Given the description of an element on the screen output the (x, y) to click on. 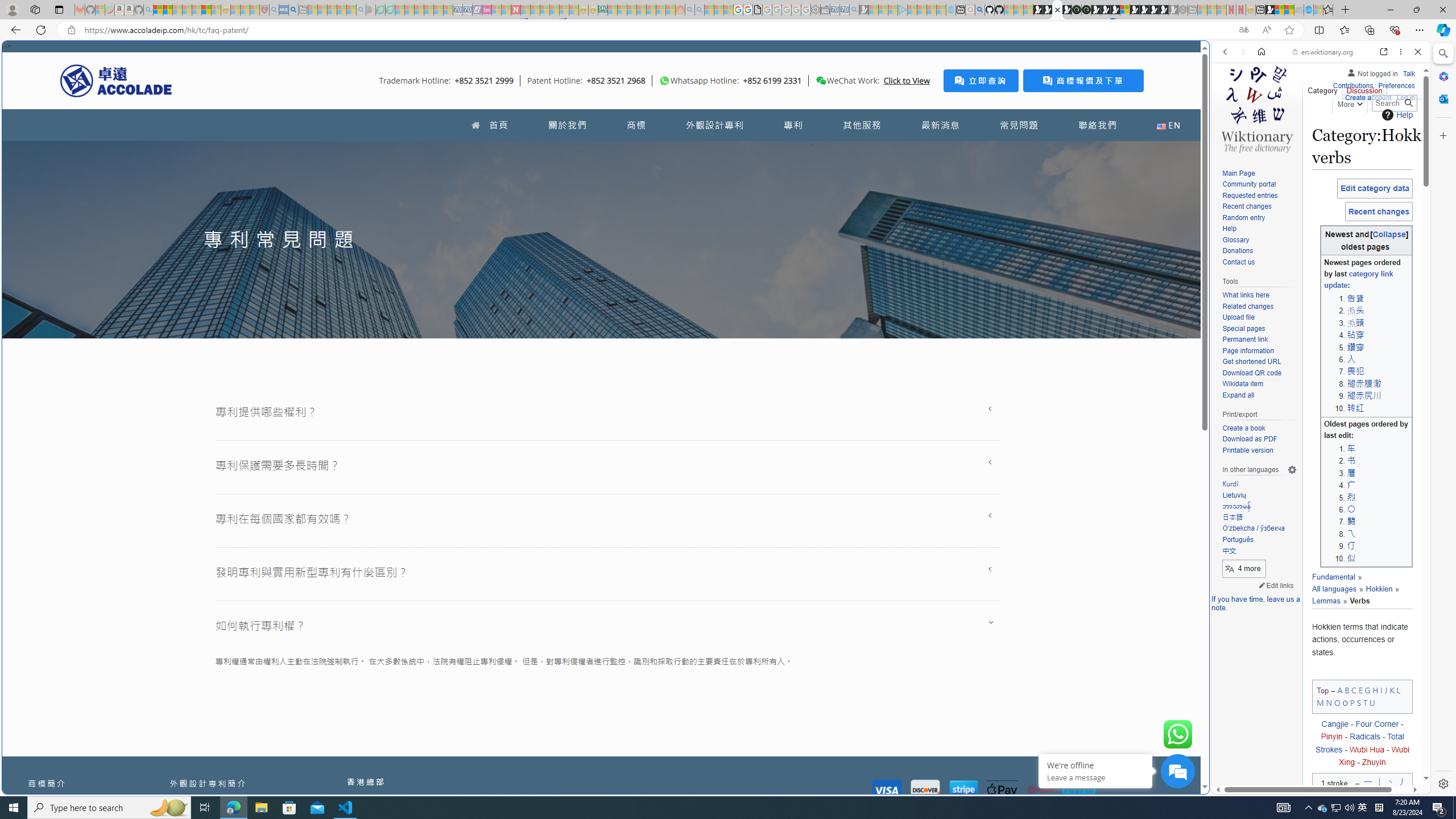
Contact us (1259, 262)
Main Page (1259, 173)
